Given the description of an element on the screen output the (x, y) to click on. 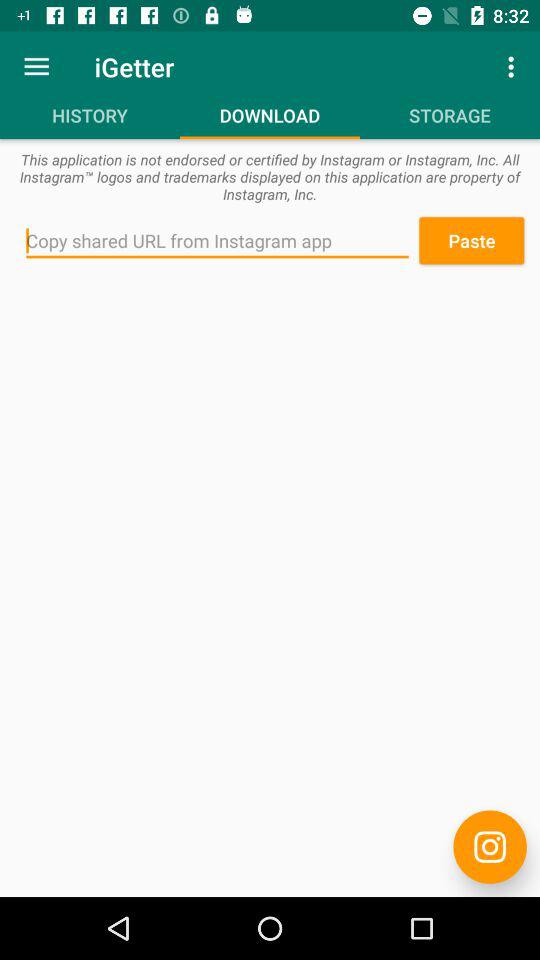
turn off the icon to the right of the igetter (513, 66)
